Given the description of an element on the screen output the (x, y) to click on. 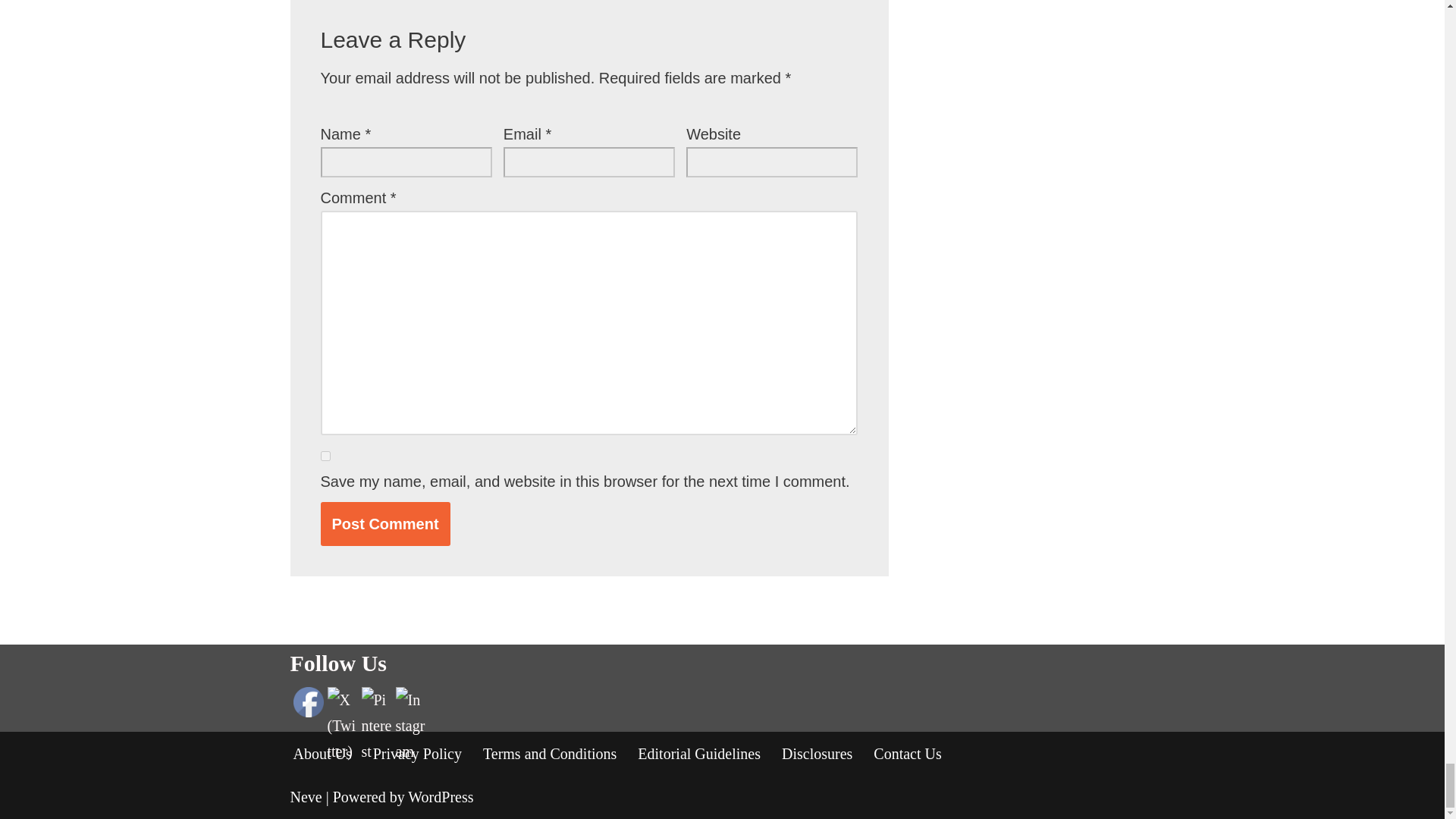
yes (325, 456)
Post Comment (384, 523)
Post Comment (384, 523)
Facebook (307, 701)
